Given the description of an element on the screen output the (x, y) to click on. 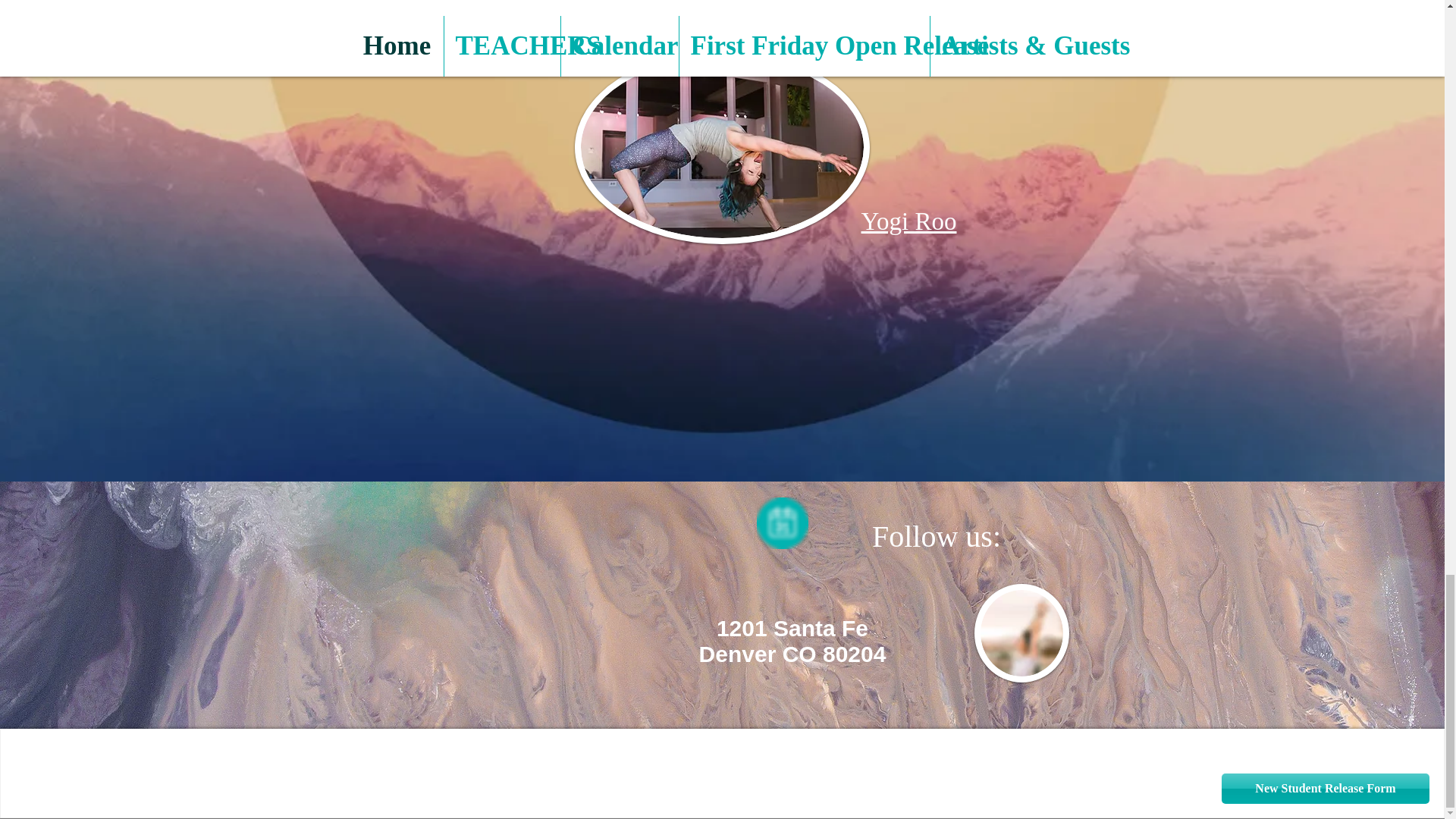
Calendar (782, 522)
Roo Profile.jpg (1021, 632)
Ciara (574, 27)
Yogi Roo (908, 221)
Katya (1033, 2)
Shannon (878, 32)
